Given the description of an element on the screen output the (x, y) to click on. 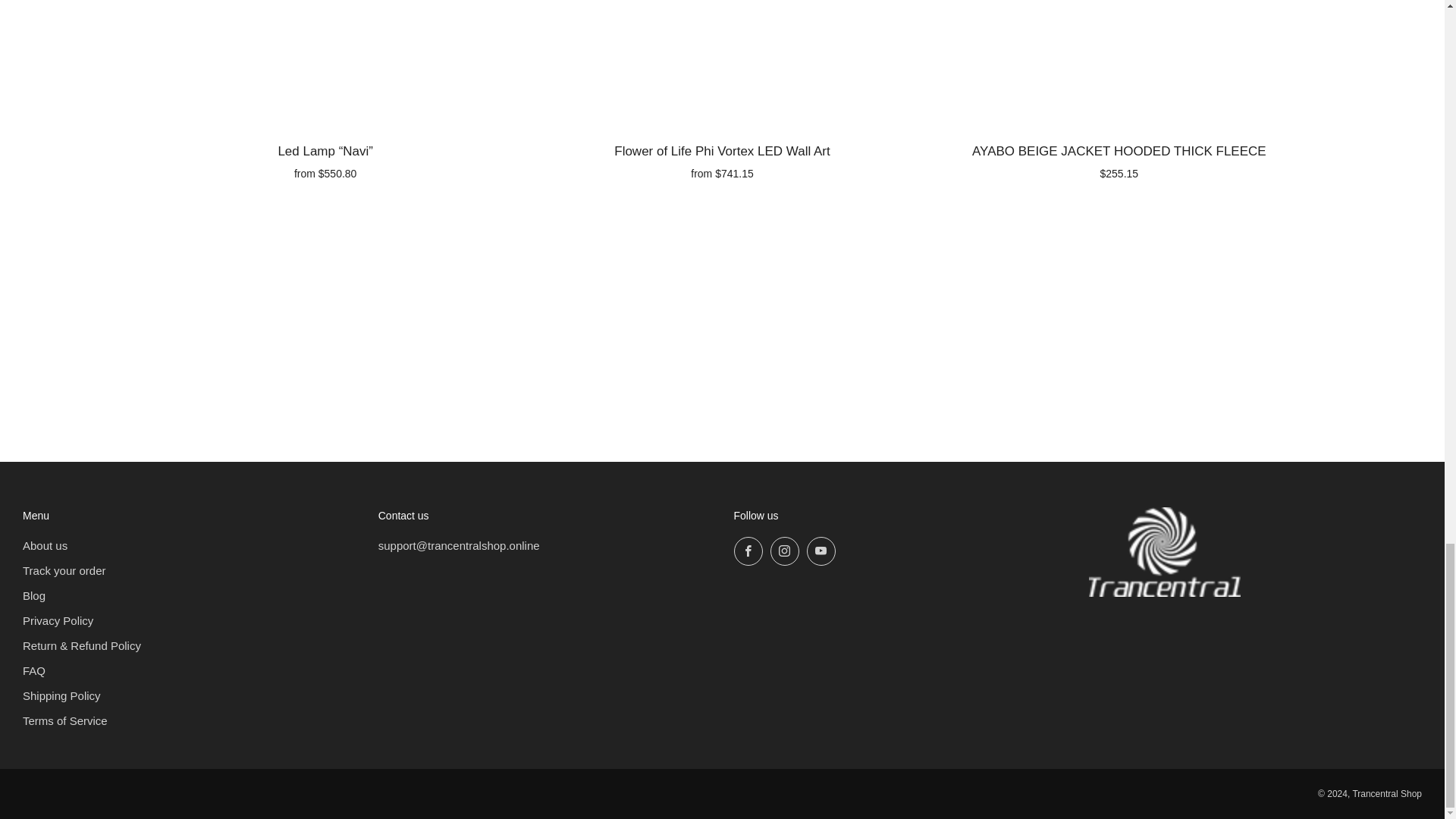
Flower of Life Phi Vortex LED Wall Art (721, 159)
AYABO BEIGE JACKET HOODED THICK FLEECE (1118, 159)
